Given the description of an element on the screen output the (x, y) to click on. 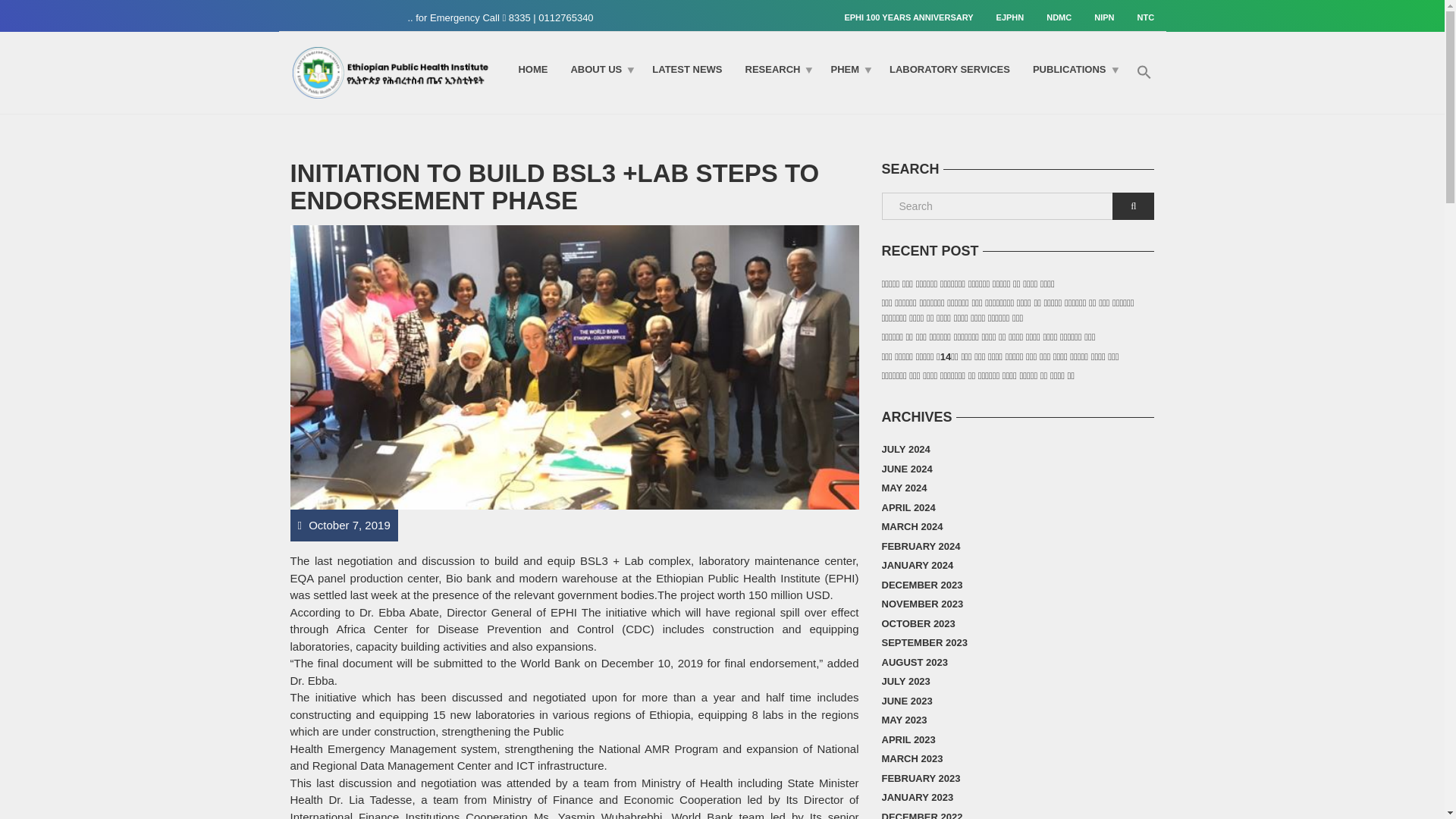
HOME (532, 68)
Home (532, 68)
EPHI 100 YEARS ANNIVERSARY (914, 17)
EJPHN (1010, 17)
NDMC (1059, 17)
ABOUT US (599, 68)
EJPHN (1010, 17)
NDMC (1059, 17)
About us (599, 68)
NTC (1139, 17)
EPHI 100 Years Anniversary (914, 17)
NTC (1139, 17)
PHEM (847, 68)
RESEARCH (776, 68)
NIPN (1104, 17)
